Given the description of an element on the screen output the (x, y) to click on. 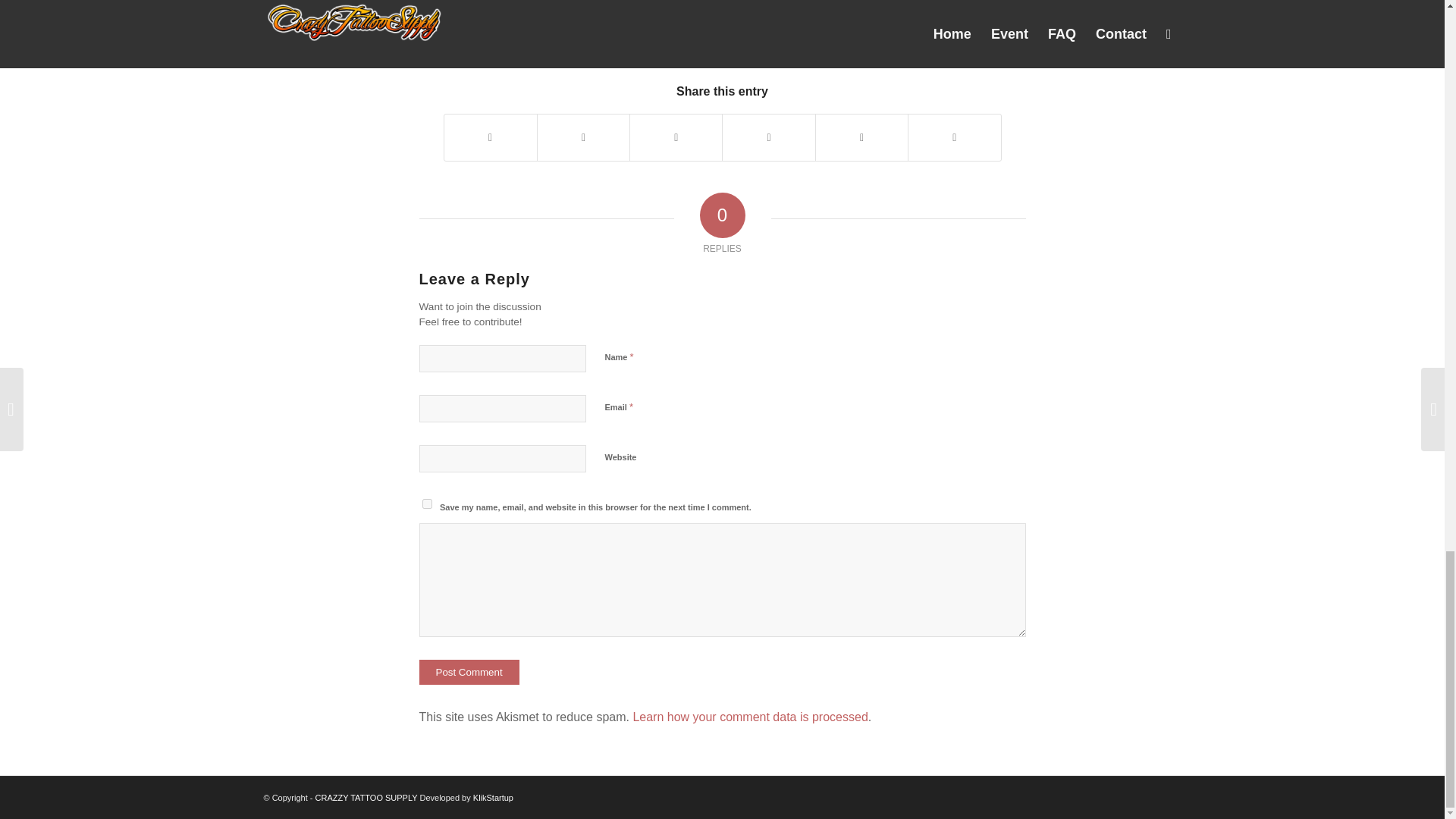
Post Comment (468, 672)
JOHANGILA (768, 35)
KlikStartup (493, 797)
0 COMMENTS (665, 35)
Posts by johangila (768, 35)
Post Comment (468, 672)
CRAZZY TATTOO SUPPLY (366, 797)
yes (426, 503)
Learn how your comment data is processed (749, 716)
